Given the description of an element on the screen output the (x, y) to click on. 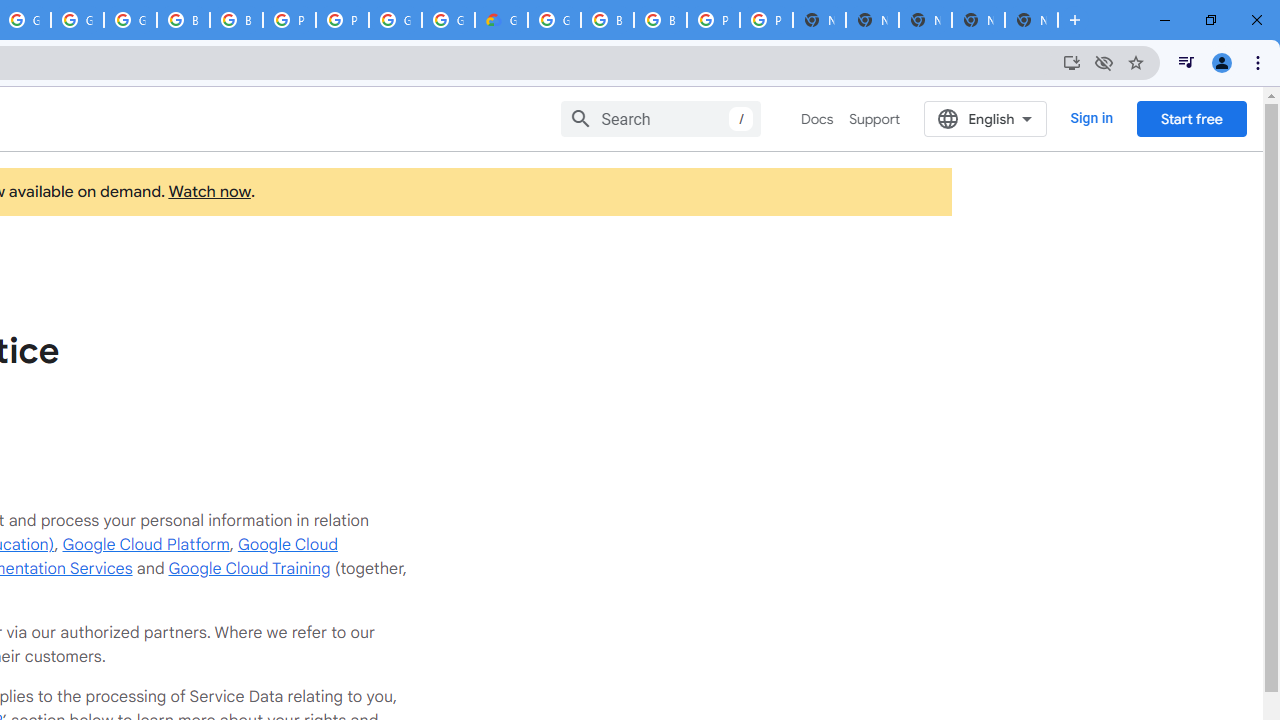
Google Cloud Platform (554, 20)
Google Cloud Platform (145, 544)
Google Cloud Estimate Summary (501, 20)
Google Cloud Platform (395, 20)
Start free (1191, 118)
Install Google Cloud (1071, 62)
